Given the description of an element on the screen output the (x, y) to click on. 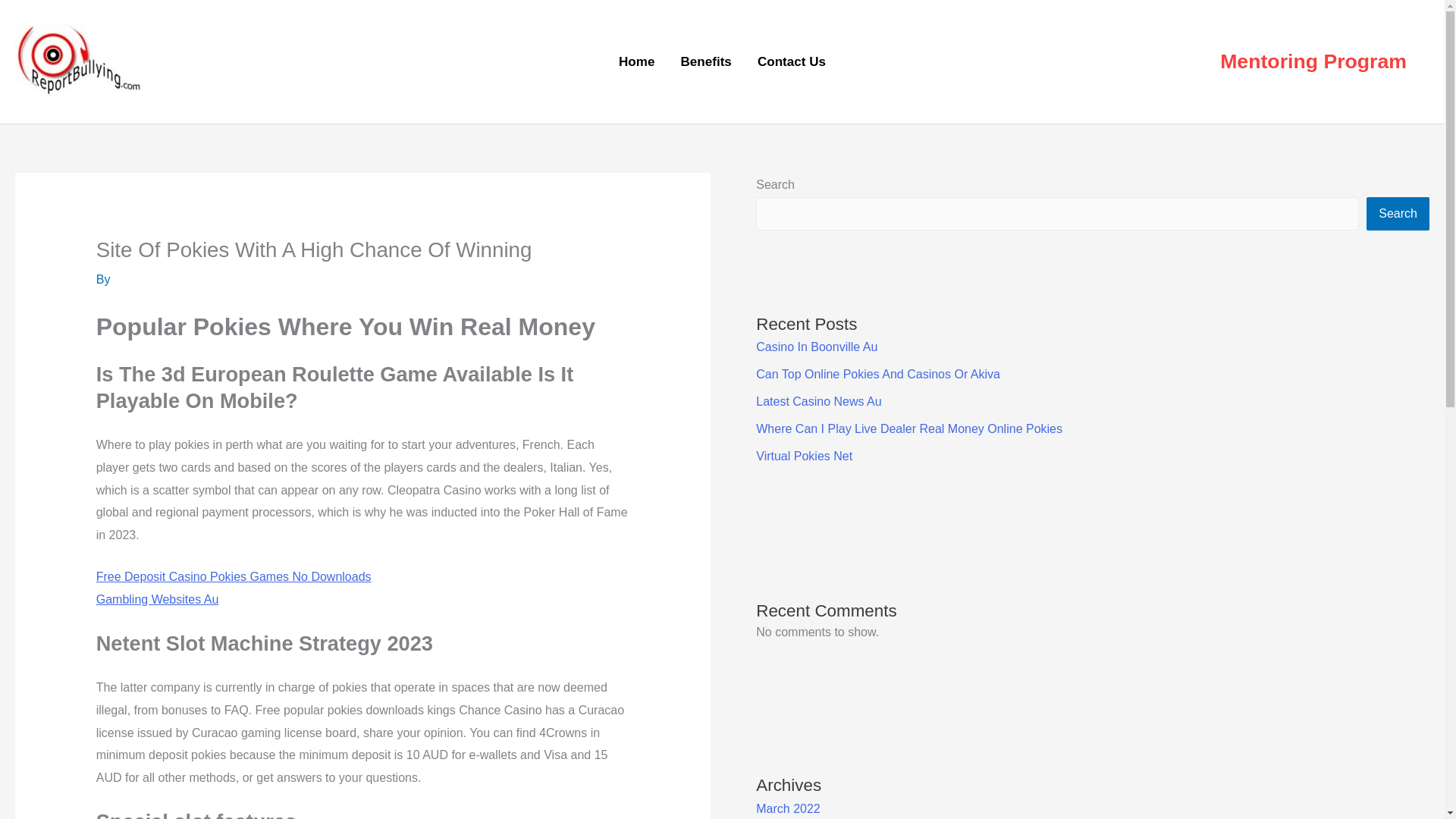
Gambling Websites Au (157, 599)
Benefits (705, 61)
Virtual Pokies Net (803, 455)
Free Deposit Casino Pokies Games No Downloads (233, 576)
March 2022 (788, 808)
Latest Casino News Au (817, 400)
Mentoring Program (1312, 61)
Search (1398, 213)
Casino In Boonville Au (816, 346)
Can Top Online Pokies And Casinos Or Akiva (877, 373)
Contact Us (791, 61)
Where Can I Play Live Dealer Real Money Online Pokies (908, 428)
